Given the description of an element on the screen output the (x, y) to click on. 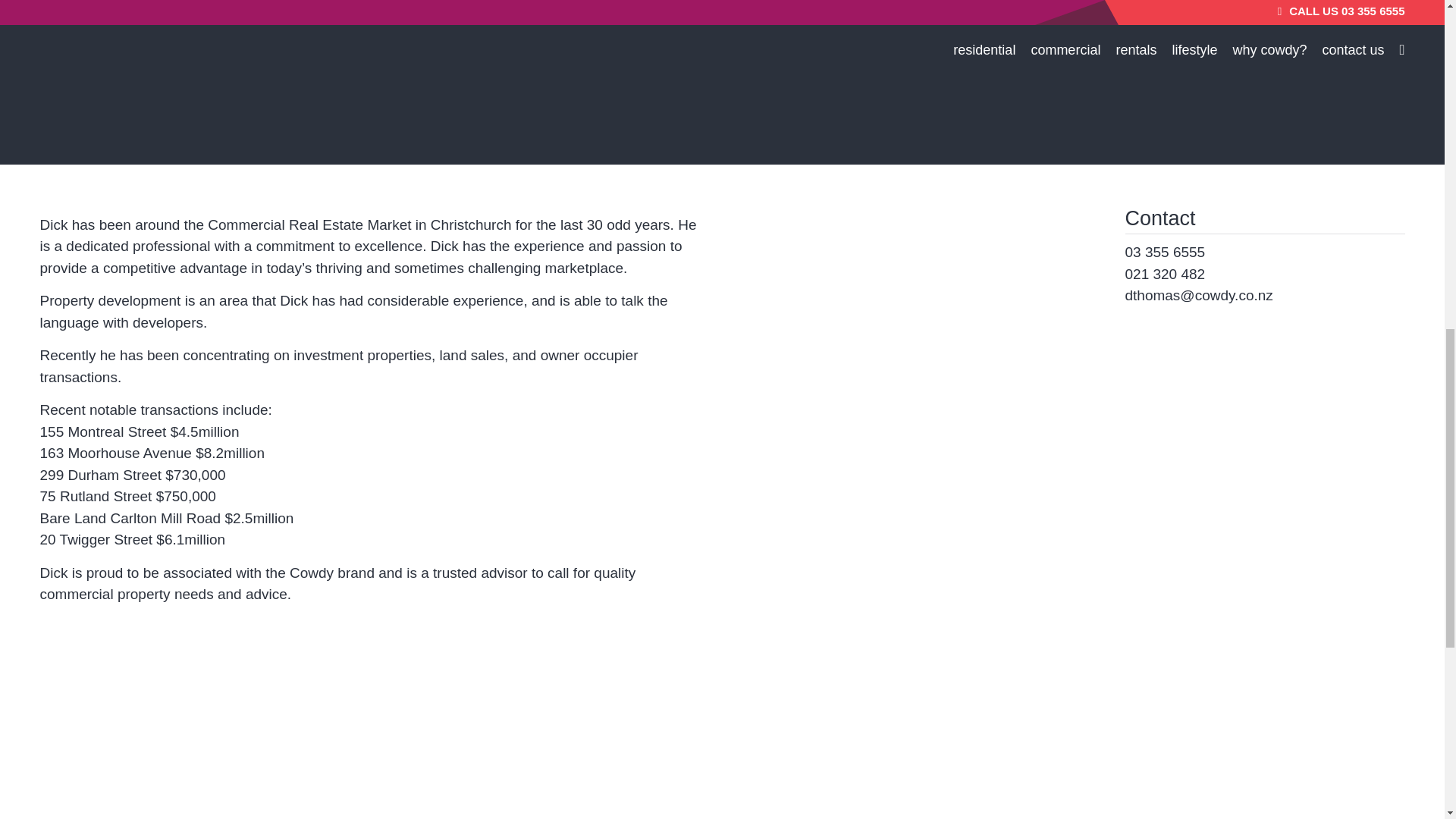
021 320 482 (1165, 273)
03 355 6555 (1165, 252)
